Given the description of an element on the screen output the (x, y) to click on. 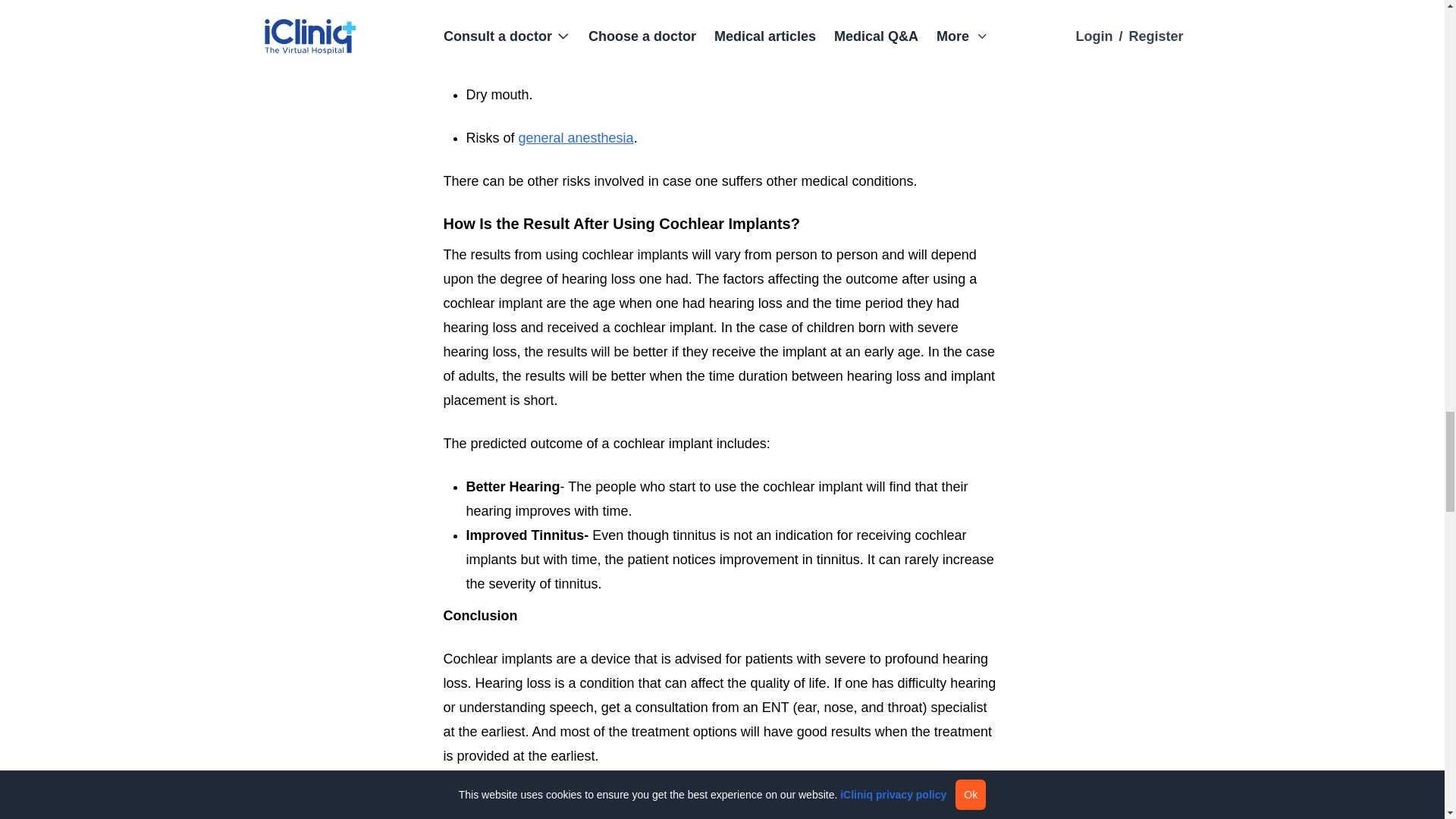
general anesthesia (575, 137)
